Given the description of an element on the screen output the (x, y) to click on. 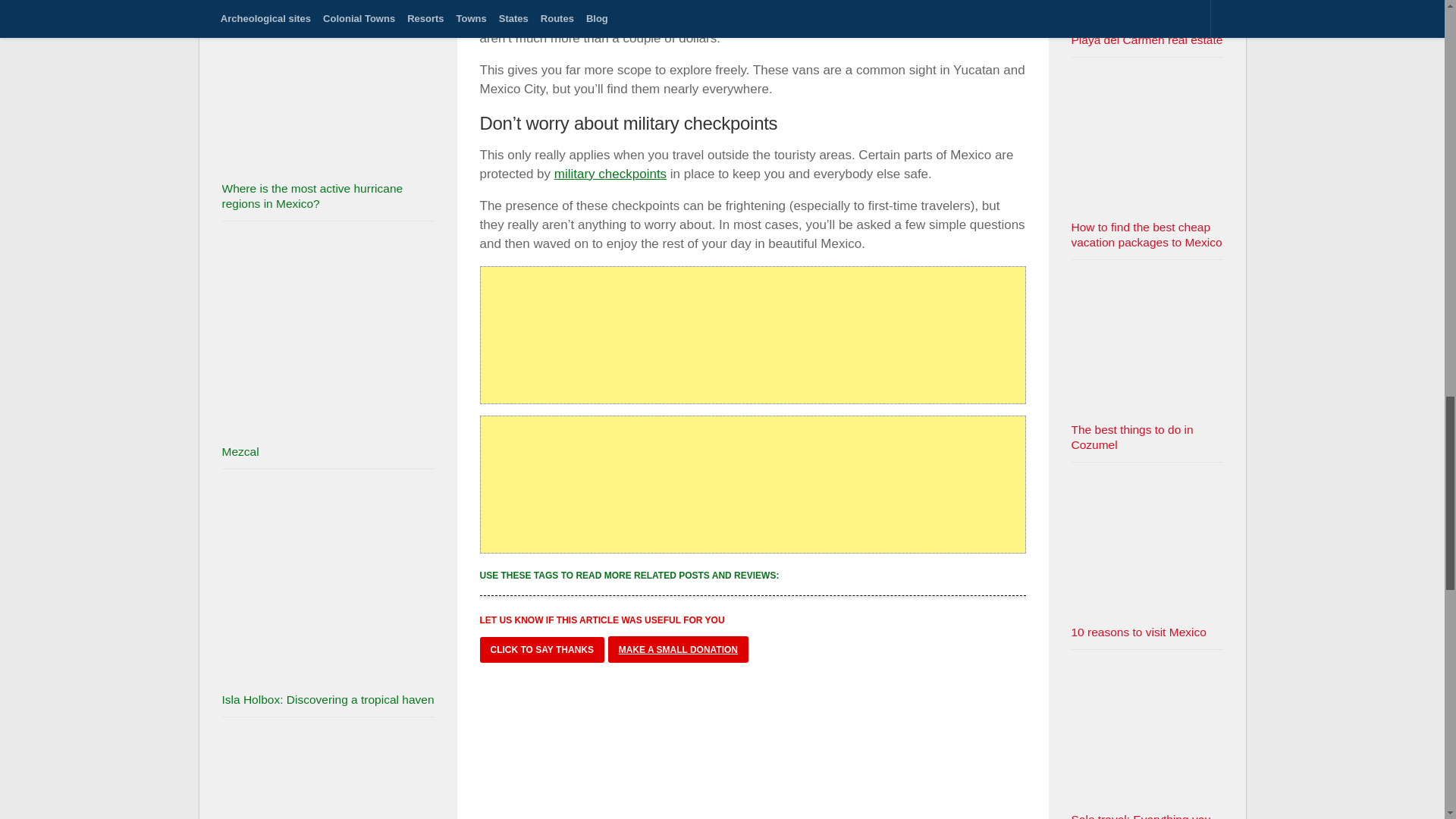
Colectivos (508, 3)
MAKE A SMALL DONATION (678, 649)
Permalink to Mezcal (240, 451)
Click to say thanks (541, 649)
military checkpoints (610, 173)
Click to say thanks (541, 649)
